Given the description of an element on the screen output the (x, y) to click on. 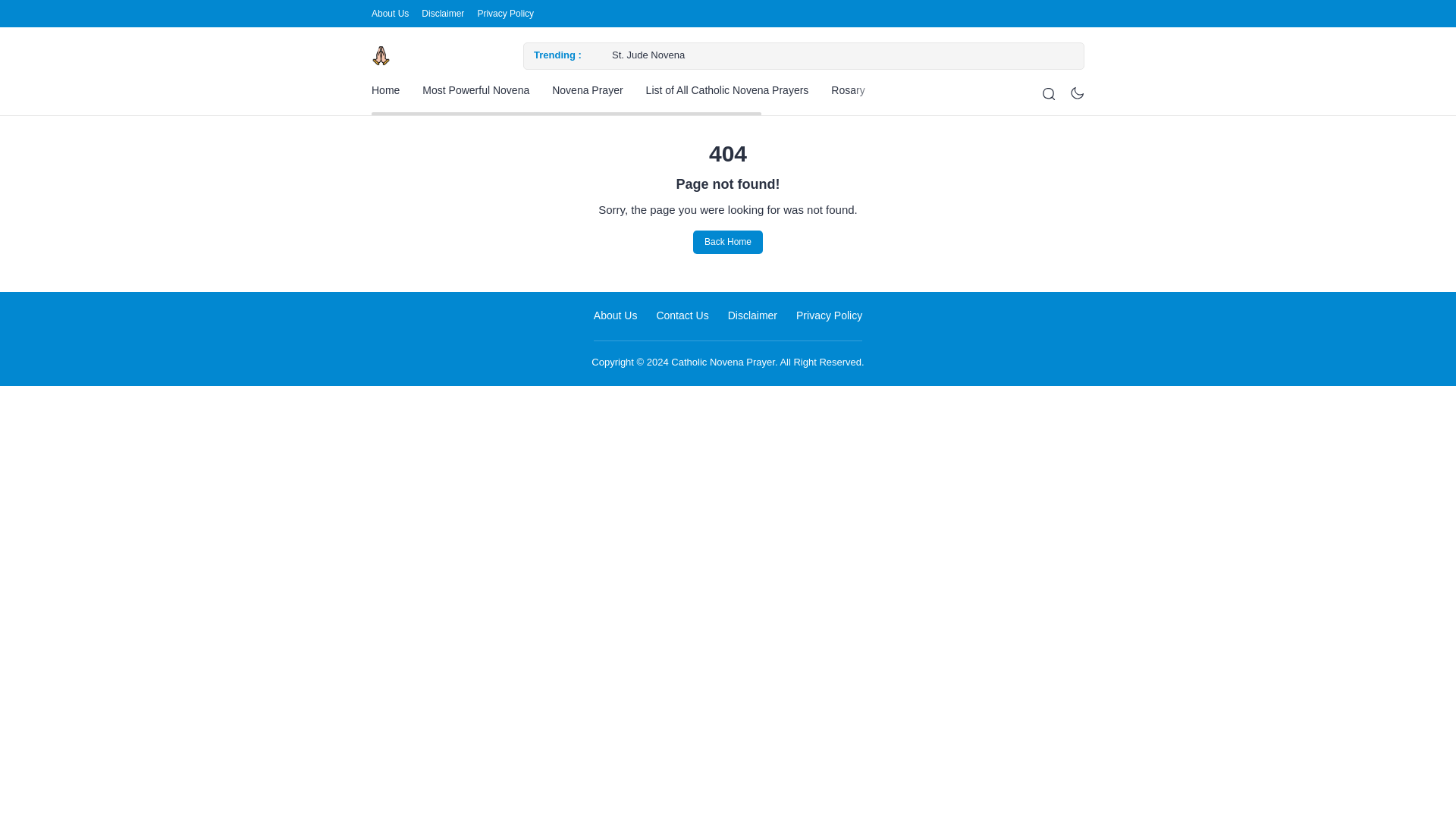
Privacy Policy (505, 13)
St. Jude Novena (823, 54)
About Us (390, 13)
Most Powerful Novena (475, 90)
Disclaimer (443, 13)
